Given the description of an element on the screen output the (x, y) to click on. 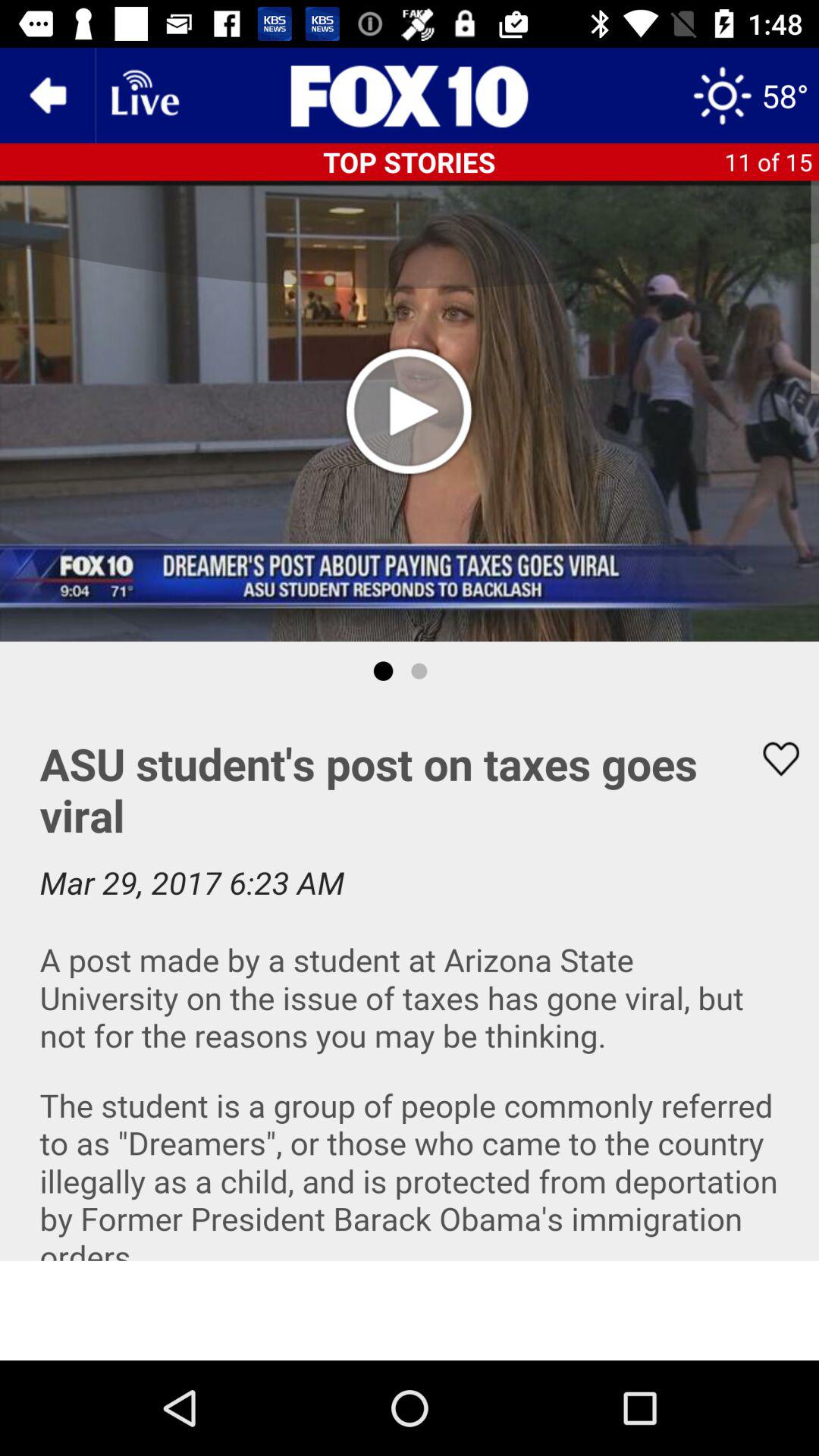
open advertisement (409, 1310)
